Given the description of an element on the screen output the (x, y) to click on. 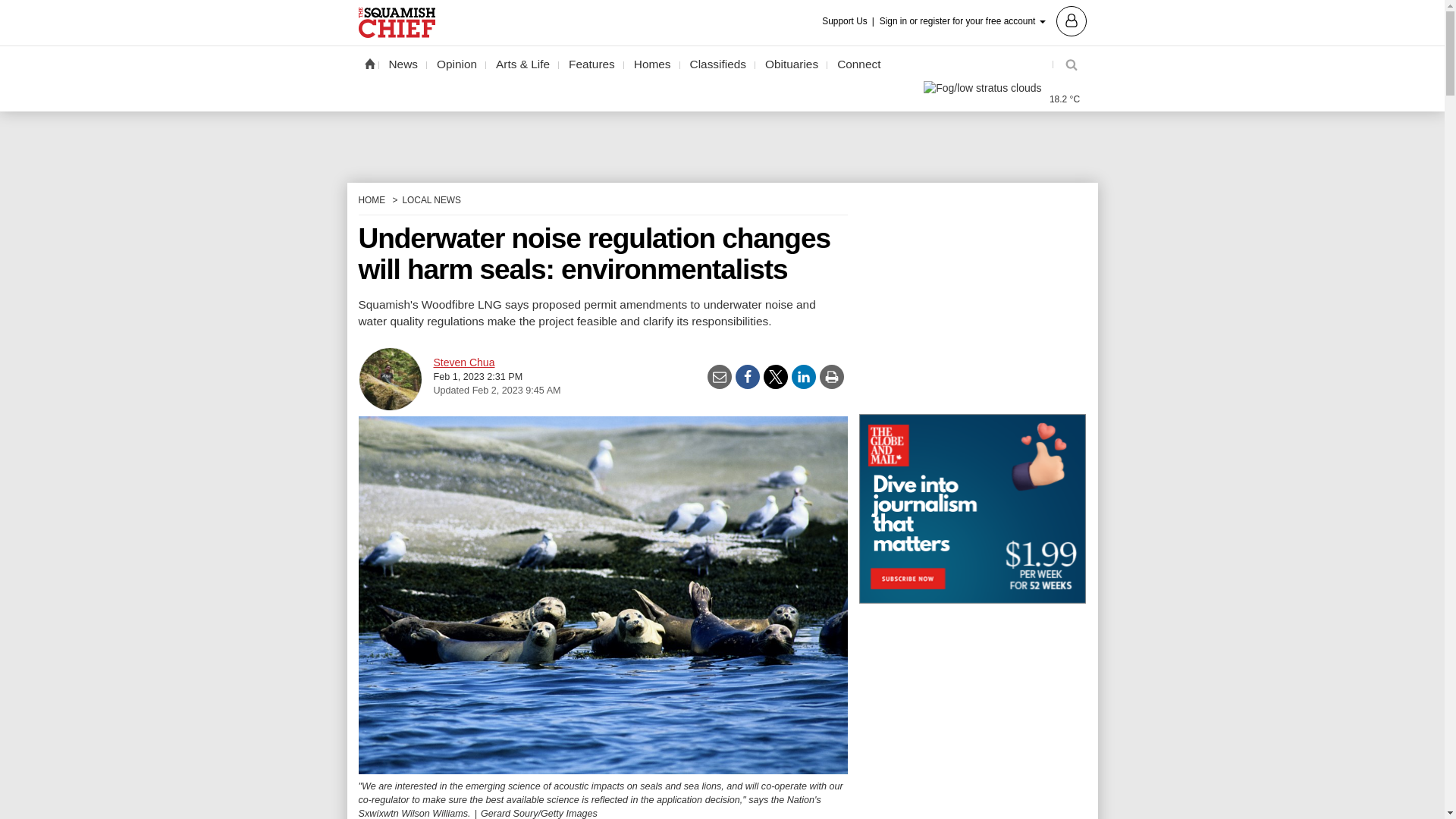
Sign in or register for your free account (982, 20)
Support Us (849, 21)
Opinion (456, 64)
News (403, 64)
Home (368, 63)
